Given the description of an element on the screen output the (x, y) to click on. 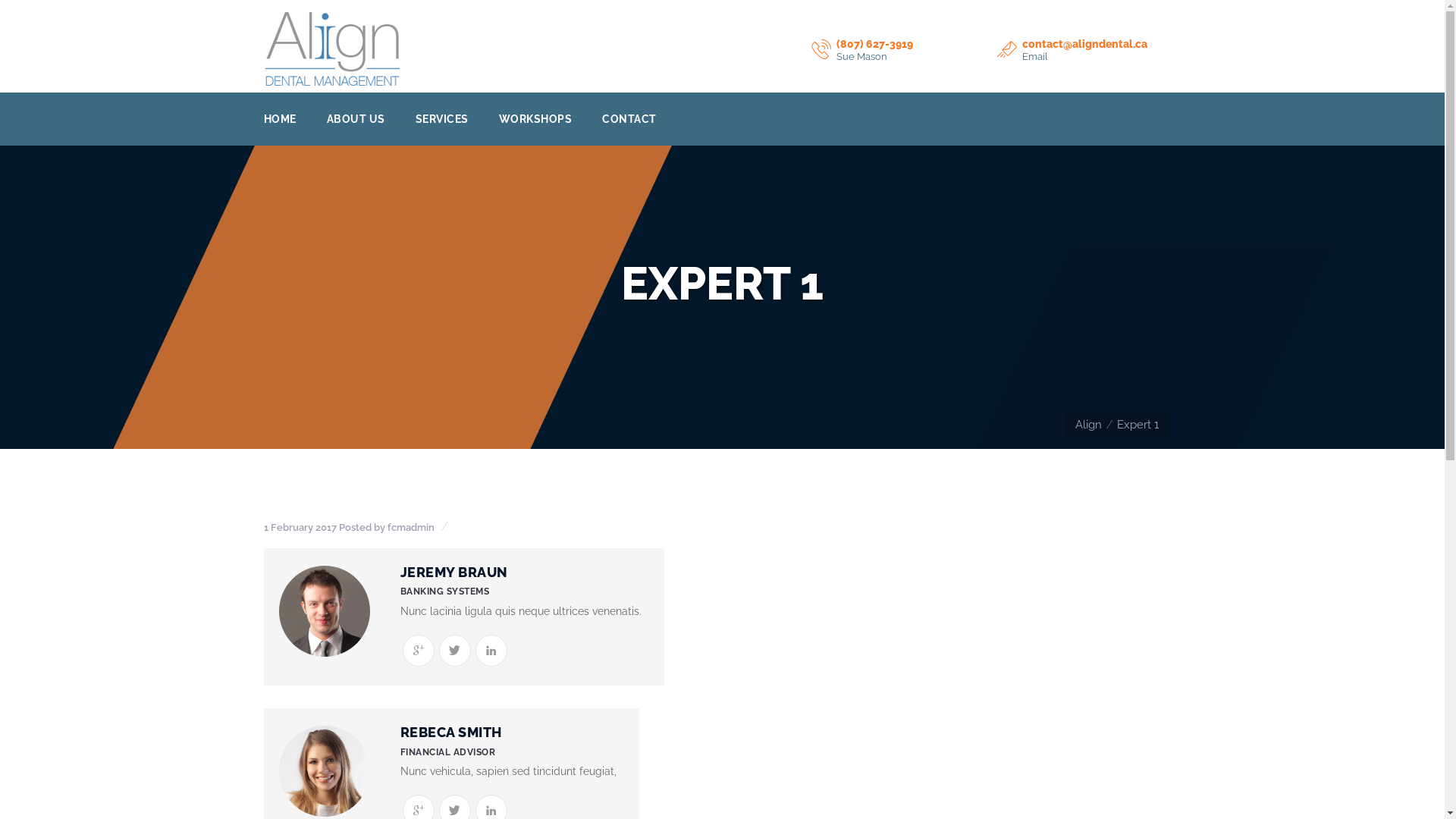
SERVICES Element type: text (441, 118)
(807) 627-3919 Element type: text (874, 43)
HOME Element type: text (279, 118)
fcmadmin Element type: text (409, 527)
WORKSHOPS Element type: text (535, 118)
contact@aligndental.ca Element type: text (1084, 43)
Align Element type: text (1088, 424)
ABOUT US Element type: text (355, 118)
CONTACT Element type: text (629, 118)
